Given the description of an element on the screen output the (x, y) to click on. 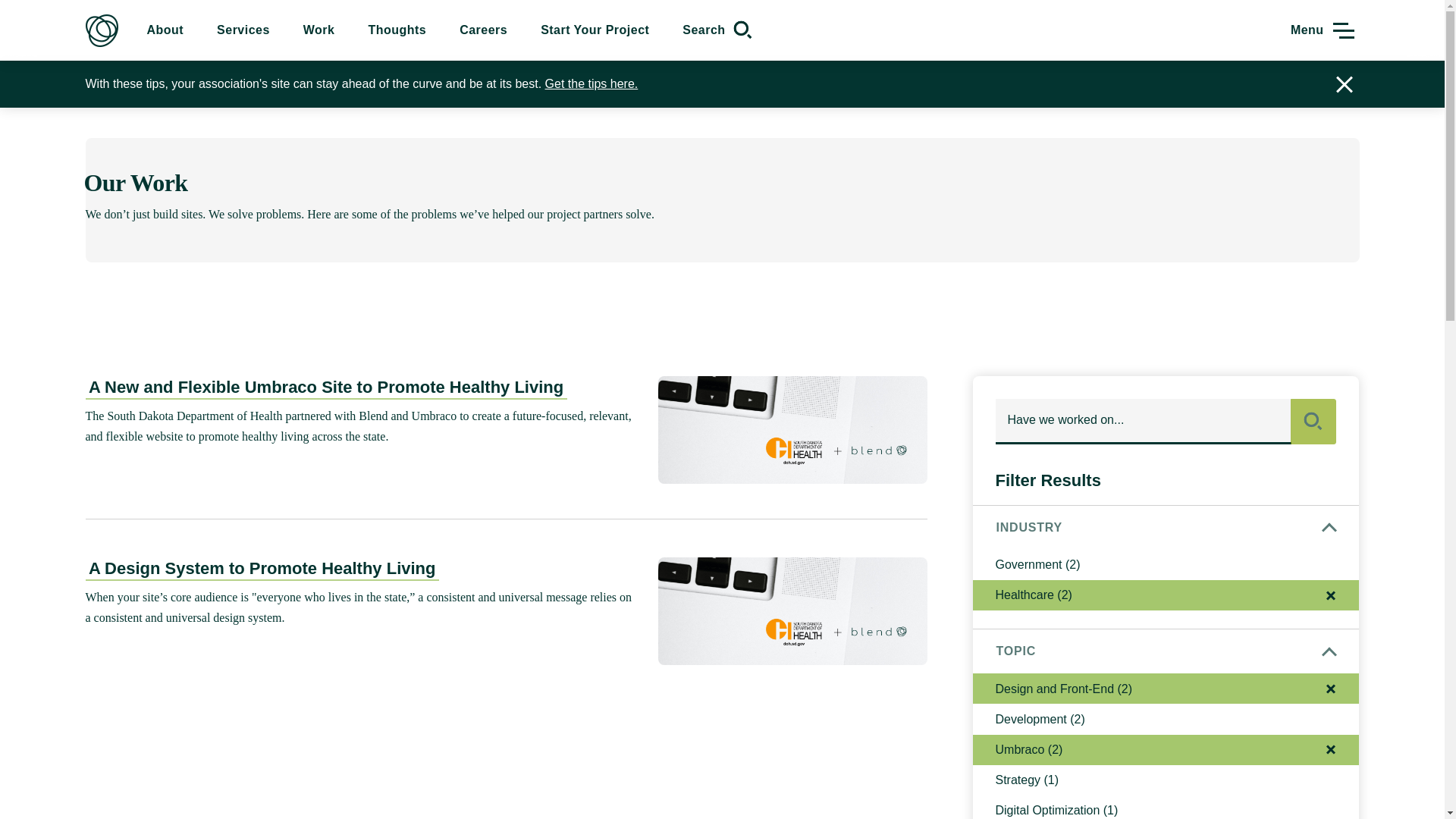
Get the tips here. (591, 83)
About (165, 29)
Work (318, 29)
A Design System to Promote Healthy Living (261, 569)
A New and Flexible Umbraco Site to Promote Healthy Living (325, 388)
Careers (483, 29)
INDUSTRY (1165, 527)
Search (718, 29)
Menu (1324, 29)
SEARCH (1313, 421)
